Given the description of an element on the screen output the (x, y) to click on. 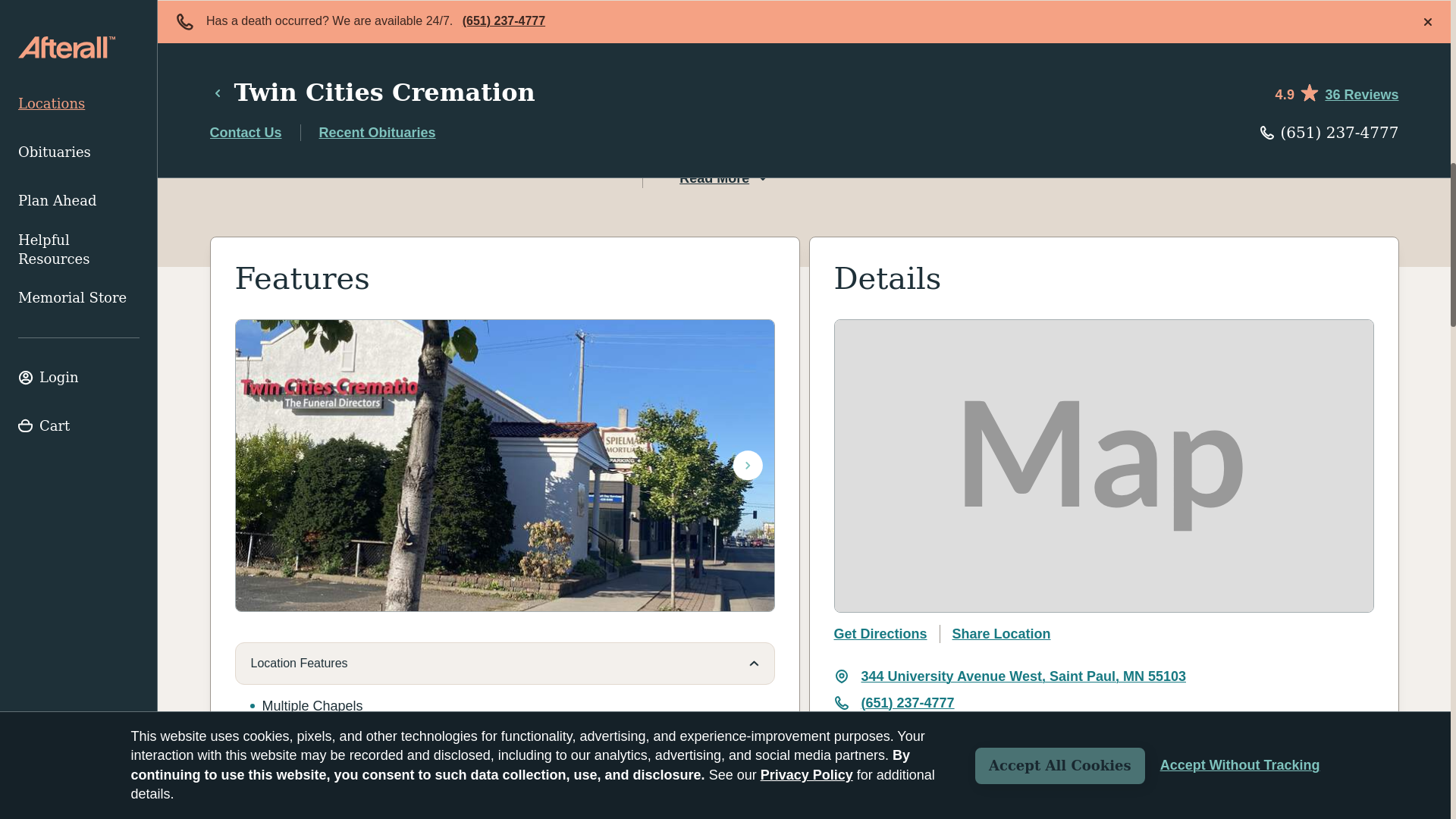
Next (747, 465)
Contact Us (407, 112)
Location Features (504, 663)
Services We Offer (504, 814)
Read More (724, 178)
Get Directions (880, 633)
